Given the description of an element on the screen output the (x, y) to click on. 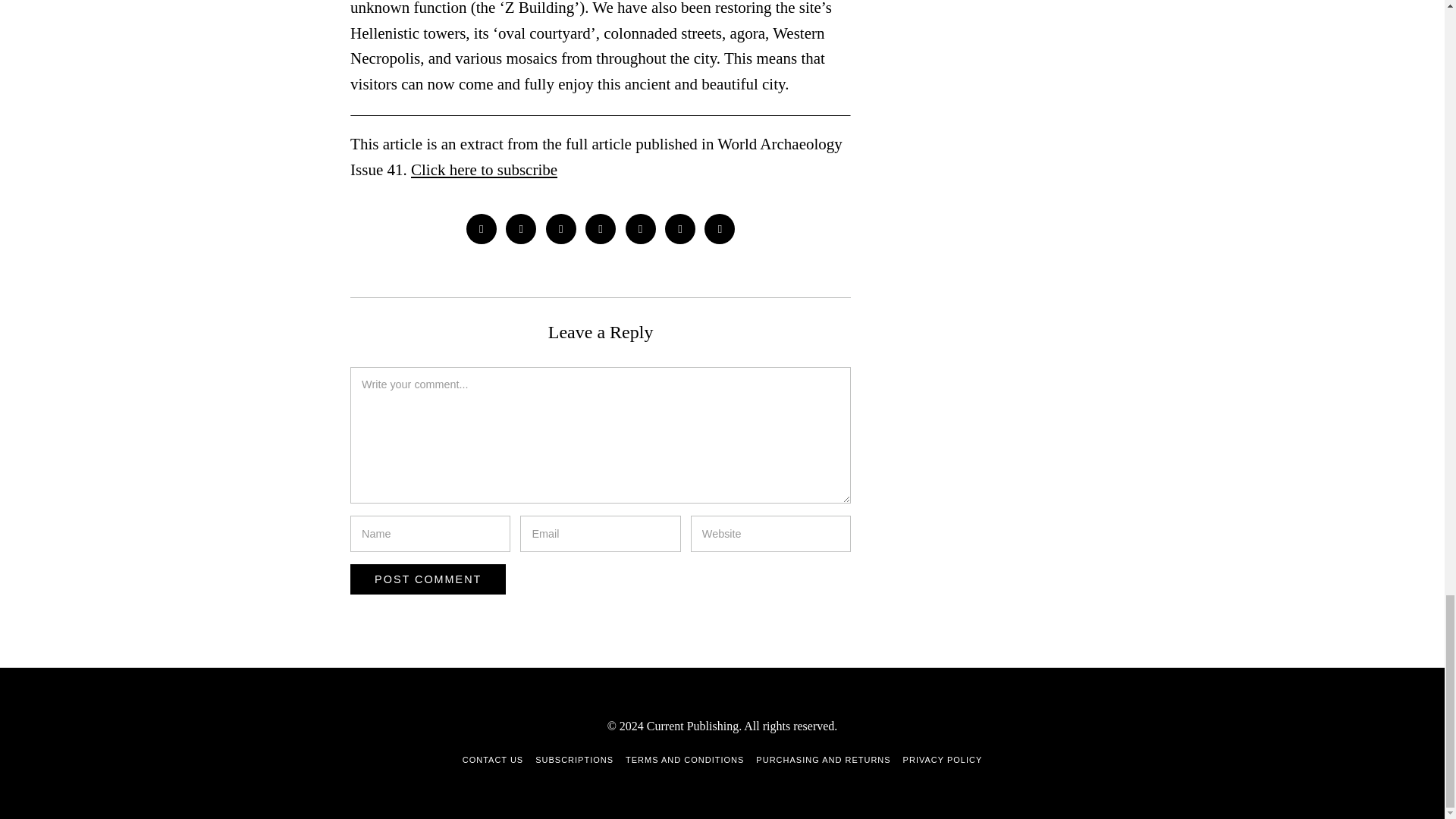
Reddit (680, 228)
Whatsapp (641, 228)
Facebook (480, 228)
Email (719, 228)
Post Comment (427, 579)
Twitter (520, 228)
Linkedin (600, 228)
Pinterest (561, 228)
